Given the description of an element on the screen output the (x, y) to click on. 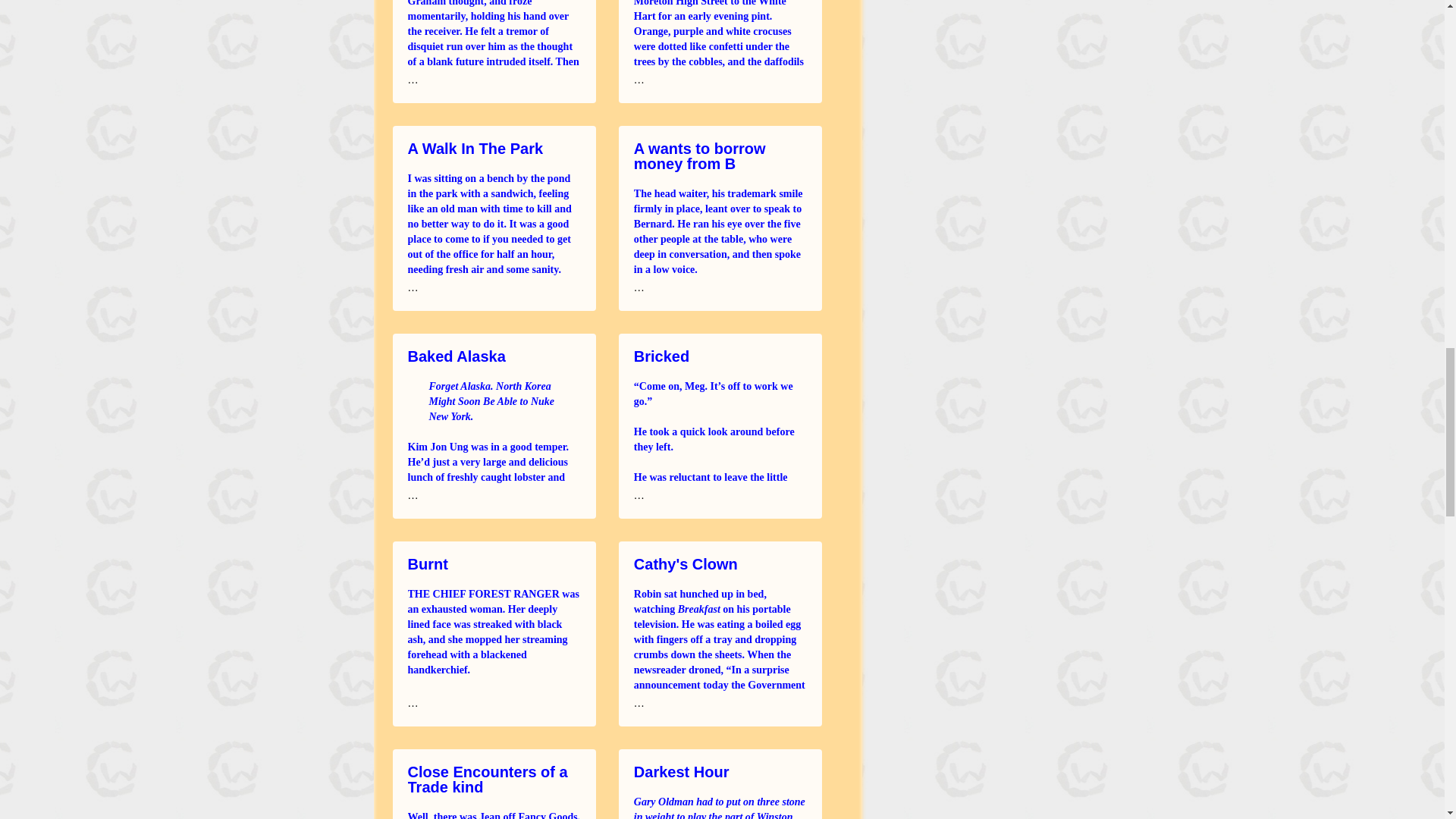
Burnt (427, 563)
A Walk In The Park (475, 147)
Baked Alaska (456, 355)
Bricked (660, 355)
Close Encounters of a Trade kind (487, 778)
